Given the description of an element on the screen output the (x, y) to click on. 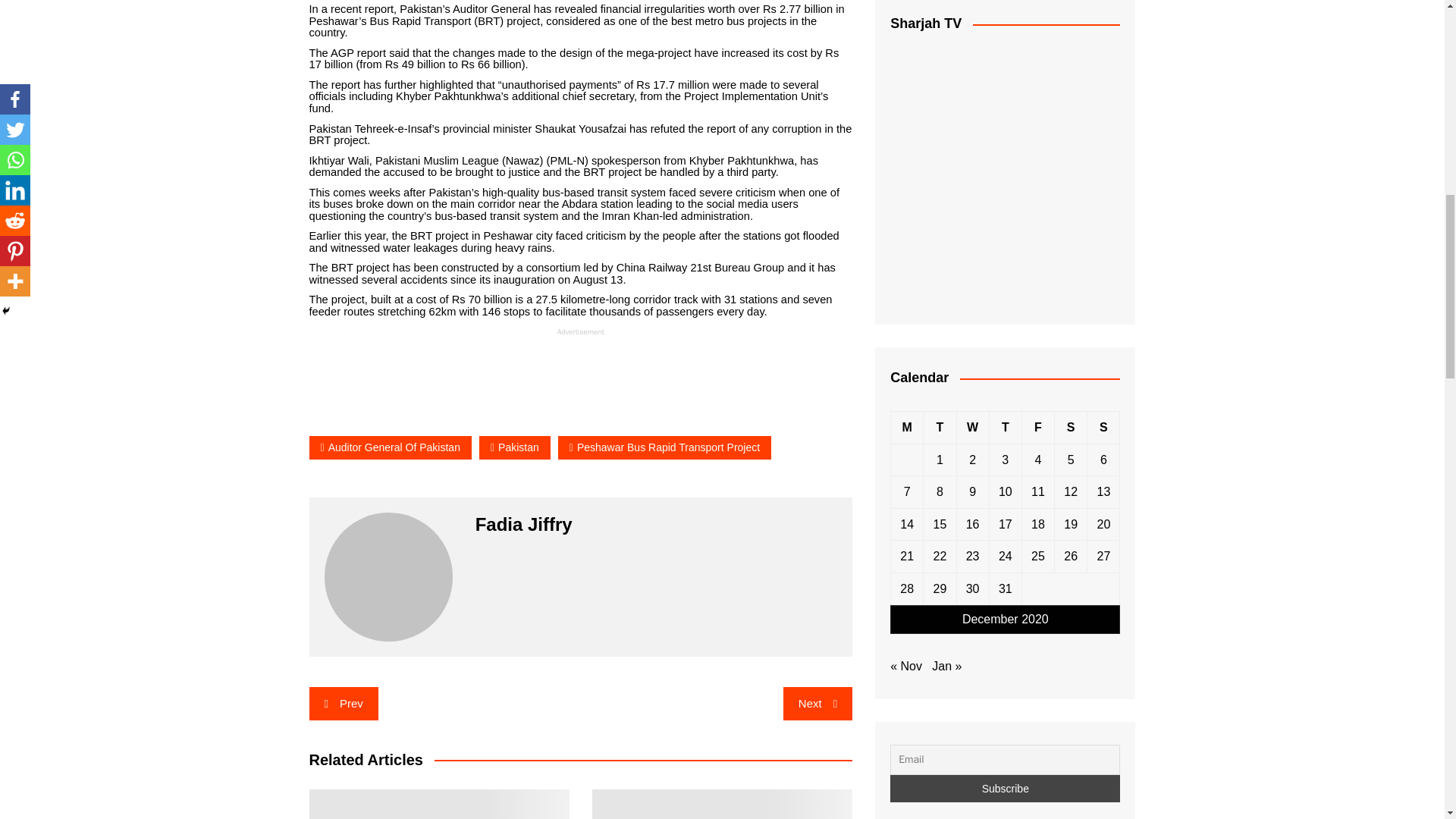
Sunday (1103, 427)
Thursday (1005, 427)
Auditor General Of Pakistan (389, 447)
Saturday (1070, 427)
Next (817, 703)
Friday (1038, 427)
Tuesday (939, 427)
Monday (907, 427)
Peshawar Bus Rapid Transport Project (664, 447)
Prev (343, 703)
